Given the description of an element on the screen output the (x, y) to click on. 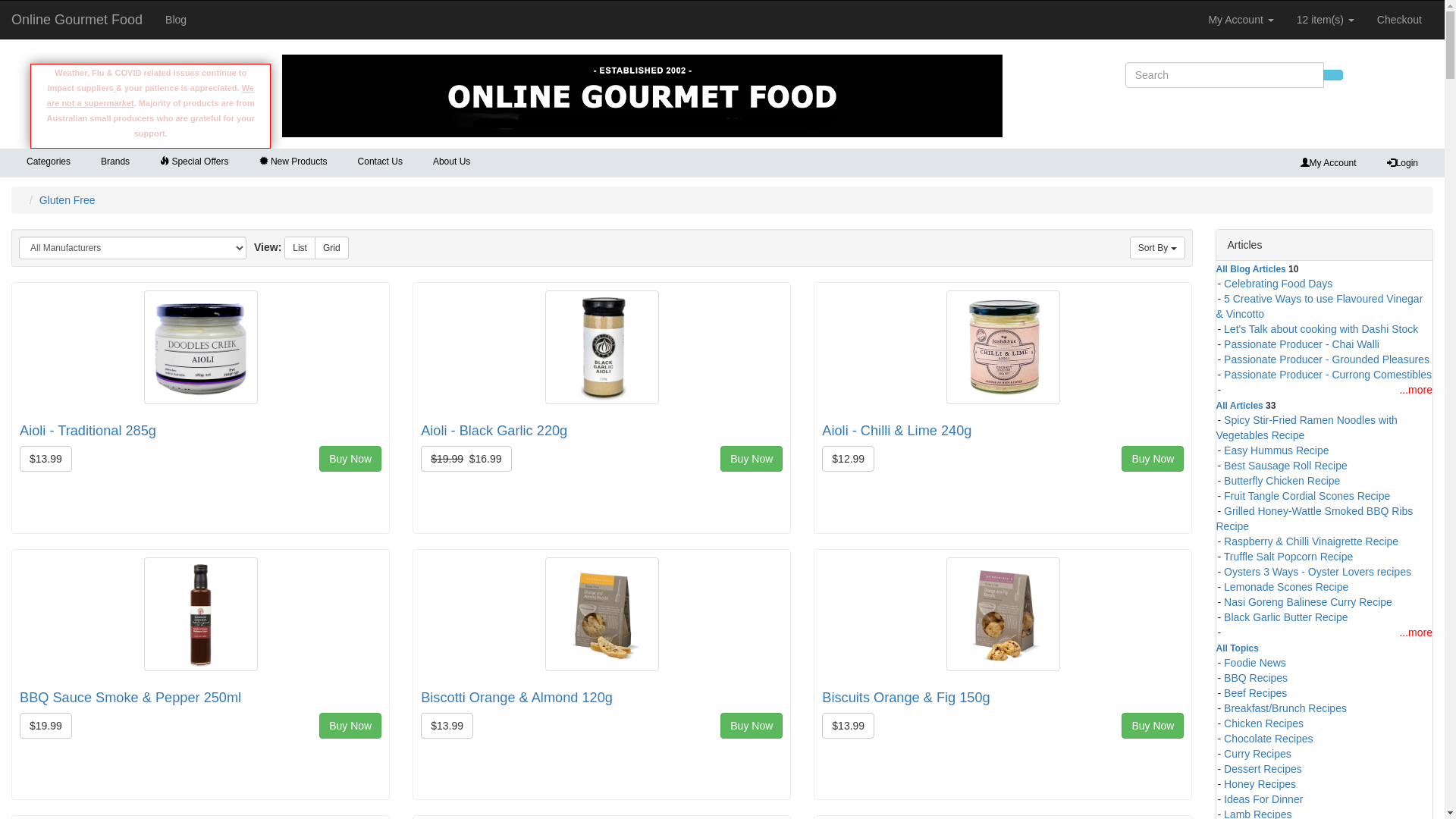
Dessert Recipes Element type: text (1262, 767)
List Element type: text (299, 247)
Special Offers Element type: text (193, 161)
All Articles Element type: text (1239, 403)
All Blog Articles Element type: text (1251, 267)
Grid Element type: text (331, 247)
Nasi Goreng Balinese Curry Recipe Element type: text (1307, 600)
Online Gourmet Food Element type: text (76, 19)
Contact Us Element type: text (379, 161)
Ideas For Dinner Element type: text (1262, 797)
Passionate Producer - Grounded Pleasures Element type: text (1326, 357)
Categories Element type: text (48, 160)
Let's Talk about cooking with Dashi Stock Element type: text (1320, 327)
Gluten Free Element type: text (67, 200)
$19.99 Element type: text (45, 725)
Biscotti Orange & Almond 120g Element type: text (516, 697)
My Account Element type: text (1240, 19)
Breakfast/Brunch Recipes Element type: text (1284, 706)
BBQ Sauce Smoke & Pepper 250ml Element type: hover (200, 612)
5 Creative Ways to use Flavoured Vinegar & Vincotto Element type: text (1319, 304)
Aioli - Traditional 285g Element type: text (87, 430)
Biscotti Orange & Almond 120g Element type: hover (601, 612)
Brands Element type: text (114, 160)
BBQ Recipes Element type: text (1255, 676)
$12.99 Element type: text (848, 458)
Honey Recipes Element type: text (1259, 782)
Chocolate Recipes Element type: text (1268, 737)
Online Gourmet Food Element type: hover (642, 95)
$13.99 Element type: text (446, 725)
Blog Element type: text (175, 19)
About Us Element type: text (451, 161)
Biscuits Orange & Fig 150g Element type: hover (1003, 612)
Raspberry & Chilli Vinaigrette Recipe Element type: text (1310, 539)
Aioli - Black Garlic 220g Element type: hover (601, 345)
Beef Recipes Element type: text (1254, 691)
Best Sausage Roll Recipe Element type: text (1285, 464)
Aioli - Black Garlic 220g Element type: text (493, 430)
Buy Now Element type: text (1152, 458)
All Topics Element type: text (1237, 646)
Passionate Producer - Chai Walli Element type: text (1301, 342)
Easy Hummus Recipe Element type: text (1276, 448)
Celebrating Food Days Element type: text (1277, 282)
$13.99 Element type: text (45, 458)
Foodie News Element type: text (1254, 661)
Buy Now Element type: text (350, 458)
My Account Element type: text (1328, 162)
Buy Now Element type: text (350, 725)
Oysters 3 Ways - Oyster Lovers recipes Element type: text (1317, 570)
Truffle Salt Popcorn Recipe Element type: text (1287, 555)
Passionate Producer - Currong Comestibles Element type: text (1327, 373)
Fruit Tangle Cordial Scones Recipe Element type: text (1306, 494)
Login Element type: text (1402, 162)
Sort By Element type: text (1157, 247)
$19.99  $16.99 Element type: text (465, 458)
Spicy Stir-Fried Ramen Noodles with Vegetables Recipe Element type: text (1306, 425)
Lemonade Scones Recipe Element type: text (1285, 585)
Aioli  - Traditional 285g Element type: hover (200, 345)
Aioli - Chilli & Lime 240g Element type: hover (1003, 345)
$13.99 Element type: text (848, 725)
Biscuits Orange & Fig 150g Element type: text (905, 697)
BBQ Sauce Smoke & Pepper 250ml Element type: text (130, 697)
Butterfly Chicken Recipe Element type: text (1281, 479)
Buy Now Element type: text (751, 725)
Chicken Recipes Element type: text (1263, 721)
Buy Now Element type: text (751, 458)
Curry Recipes Element type: text (1257, 752)
12 item(s) Element type: text (1325, 19)
Black Garlic Butter Recipe Element type: text (1285, 615)
Buy Now Element type: text (1152, 725)
New Products Element type: text (293, 161)
Grilled Honey-Wattle Smoked BBQ Ribs Recipe Element type: text (1314, 516)
Checkout Element type: text (1399, 19)
Aioli - Chilli & Lime 240g Element type: text (896, 430)
